Given the description of an element on the screen output the (x, y) to click on. 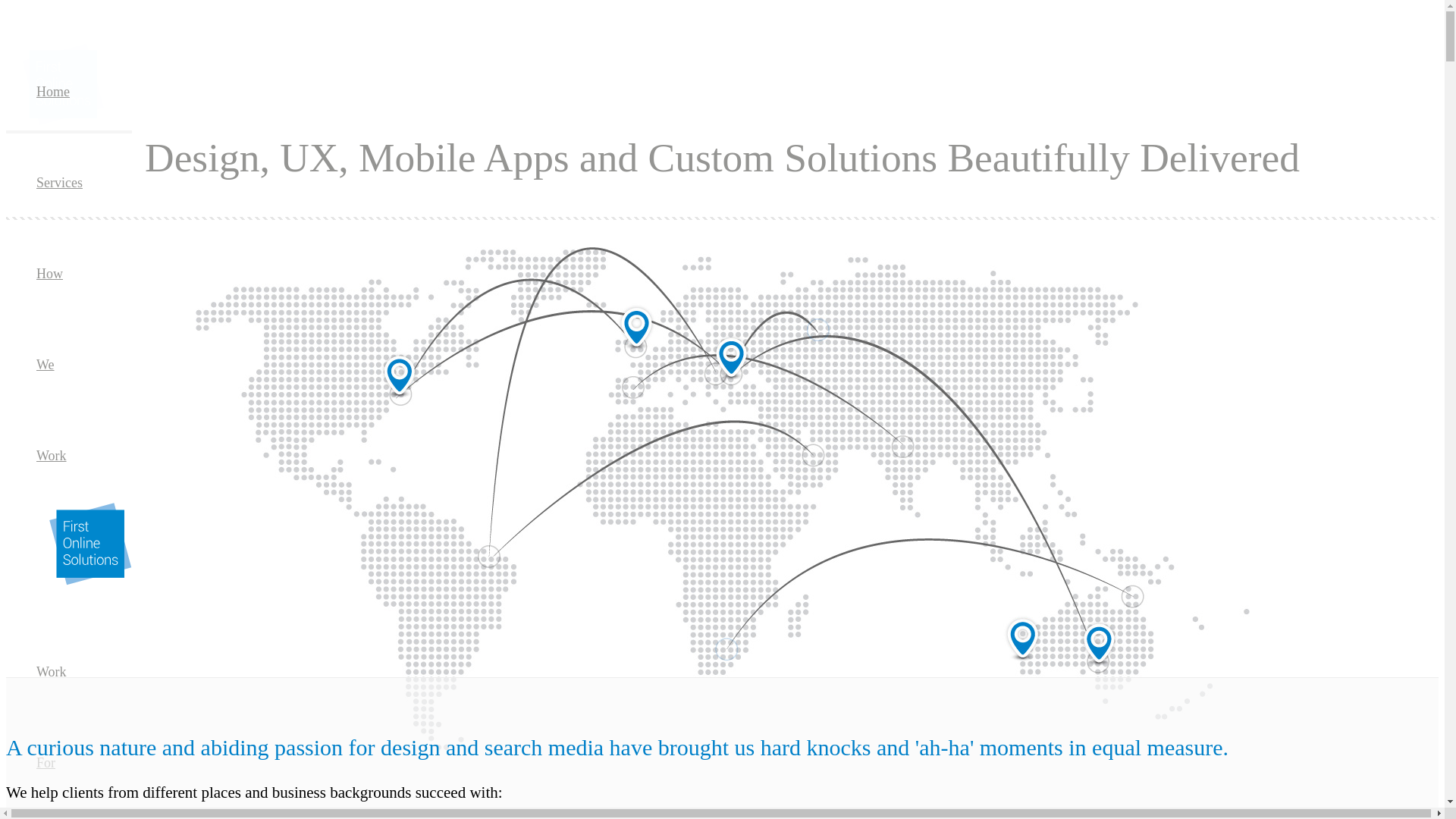
All languages, locations and devices welcome Element type: hover (722, 498)
How We Work Element type: text (51, 364)
First Online Solutions Element type: hover (89, 543)
Services Element type: text (59, 182)
Home Element type: text (52, 91)
All languages, locations and devices welcome Element type: hover (722, 500)
First Online Solutions Element type: hover (83, 580)
